Given the description of an element on the screen output the (x, y) to click on. 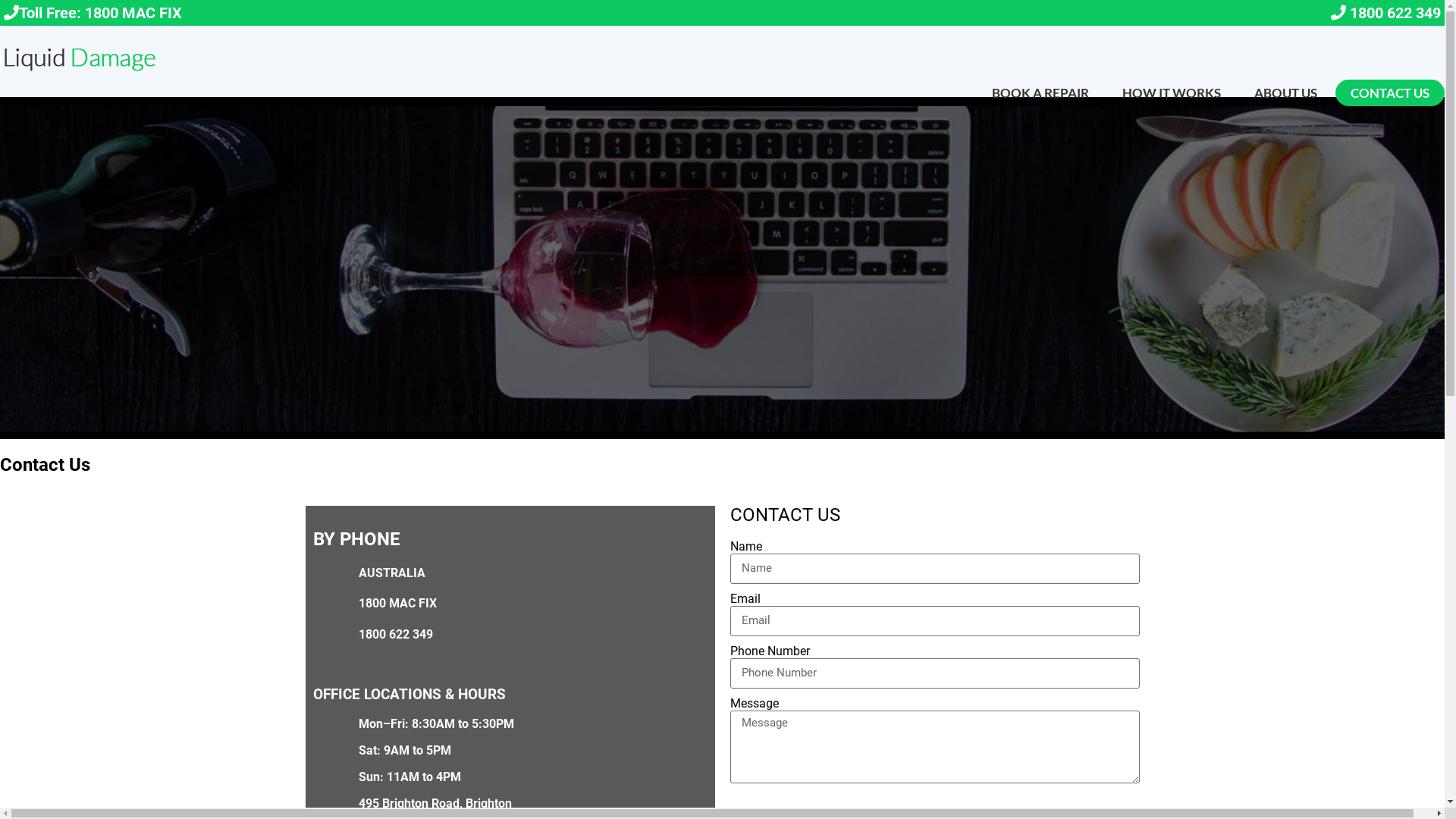
1800 MAC FIX Element type: text (133, 12)
HOW IT WORKS Element type: text (1171, 92)
BOOK A REPAIR Element type: text (1040, 92)
1800 622 349 Element type: text (1394, 12)
CONTACT US Element type: text (1389, 92)
ABOUT US Element type: text (1285, 92)
